Given the description of an element on the screen output the (x, y) to click on. 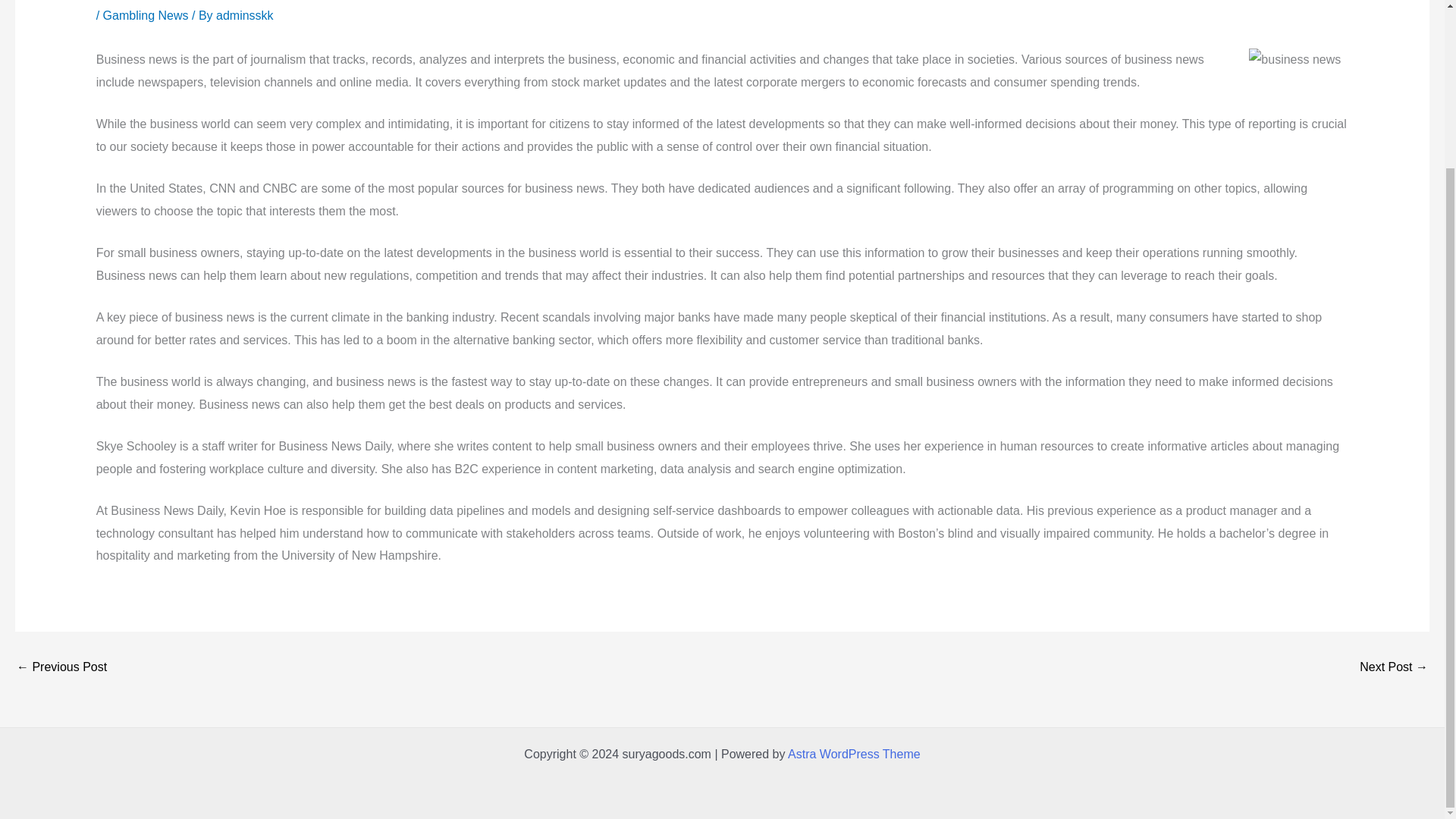
Astra WordPress Theme (853, 753)
View all posts by adminsskk (244, 15)
What Is Daily News? (61, 666)
Learn the Basics of Poker (1393, 666)
adminsskk (244, 15)
Gambling News (146, 15)
